Given the description of an element on the screen output the (x, y) to click on. 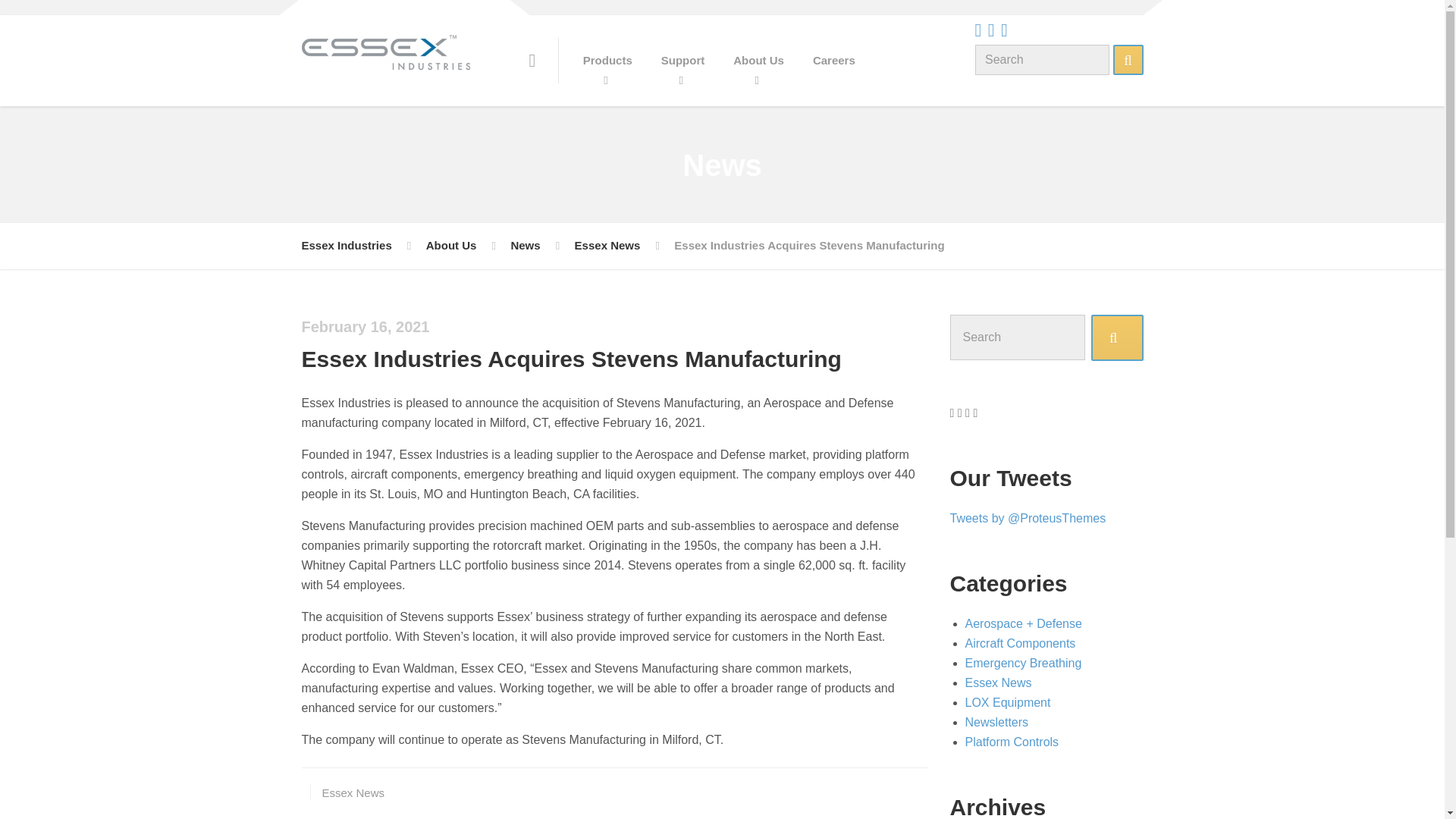
Essex Industries (346, 245)
Go to the Essex News category archives. (607, 245)
Essex News (607, 245)
Go to Essex Industries. (346, 245)
Go to About Us. (451, 245)
Essex News (352, 792)
About Us (451, 245)
